Given the description of an element on the screen output the (x, y) to click on. 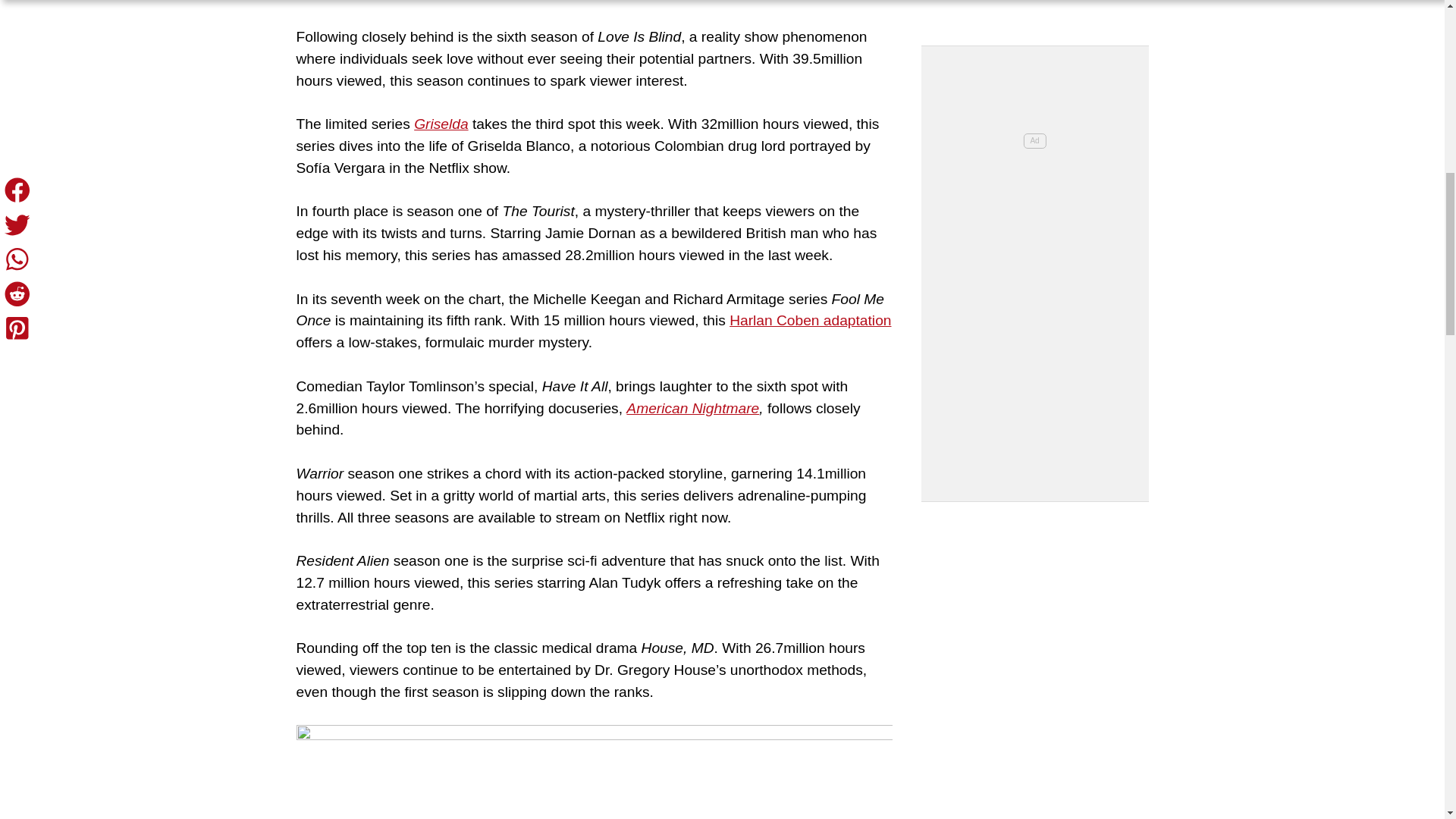
American Nightmare (692, 408)
Griselda (440, 123)
Harlan Coben adaptation (810, 320)
